Given the description of an element on the screen output the (x, y) to click on. 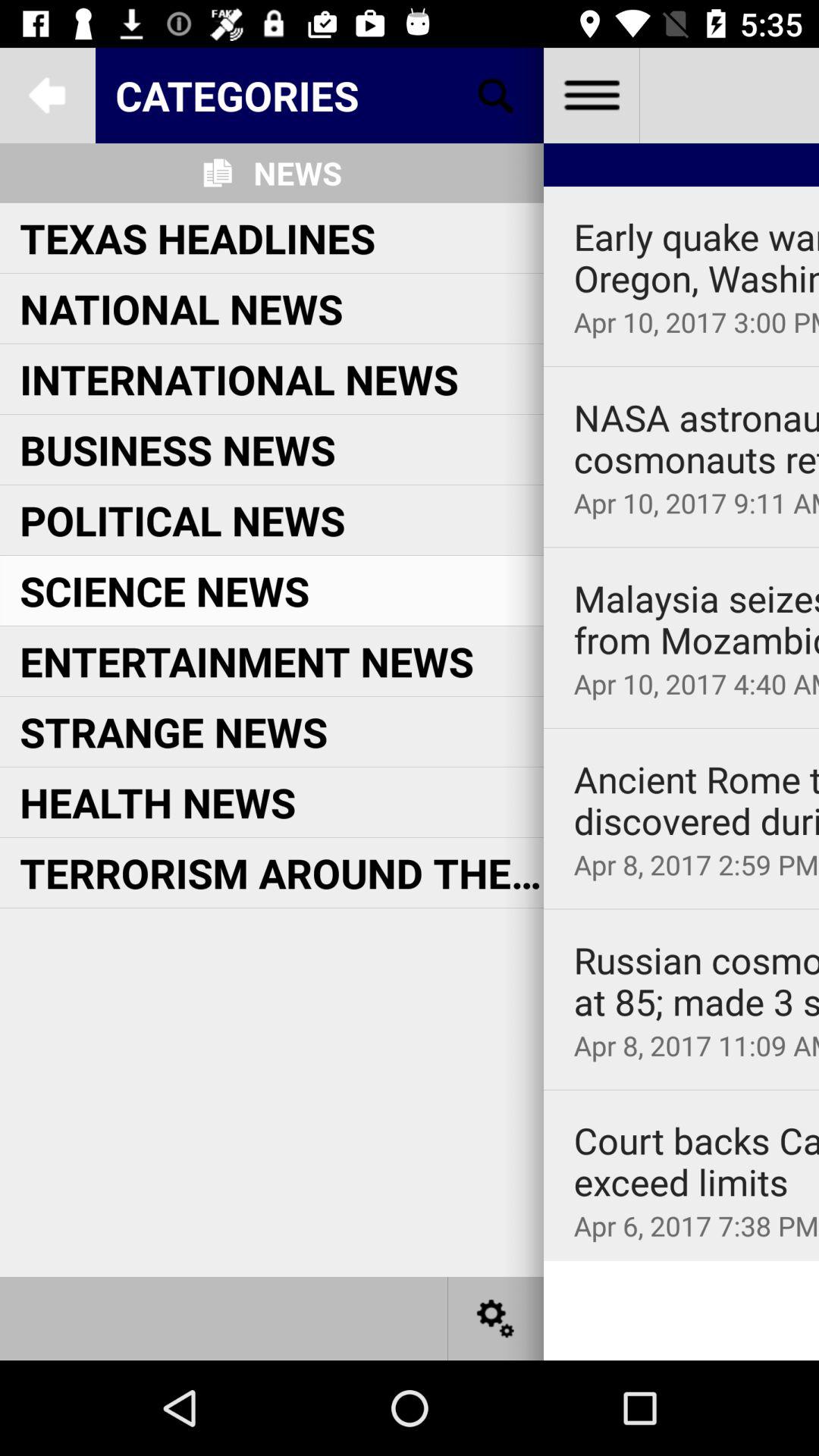
choose terrorism around the (281, 872)
